Given the description of an element on the screen output the (x, y) to click on. 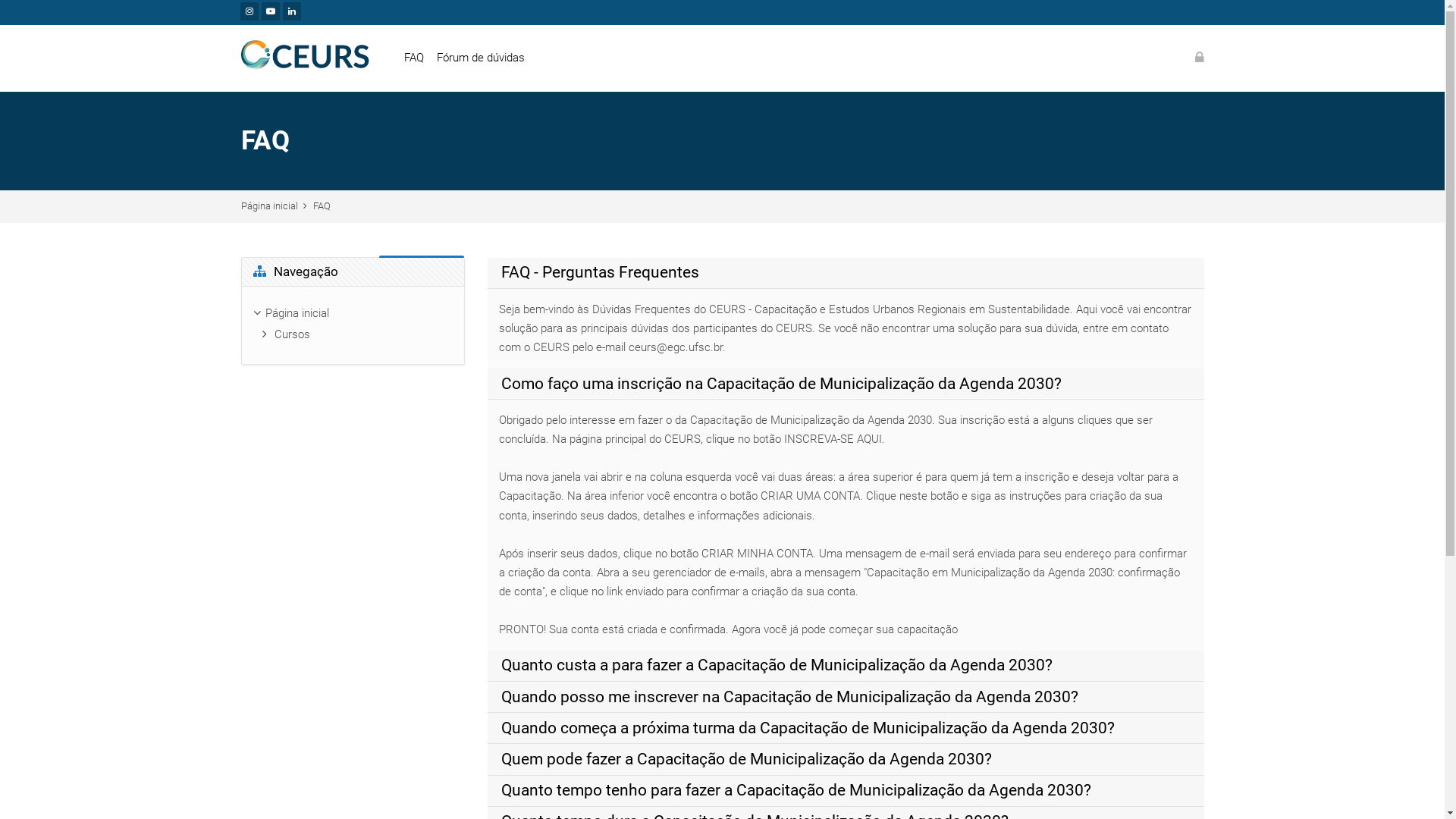
Youtube Element type: hover (269, 11)
Acessar Element type: hover (1199, 57)
Instagram Element type: hover (248, 11)
CEURS Element type: hover (305, 57)
Linkedin Element type: hover (291, 11)
FAQ Element type: text (420, 57)
Cursos Element type: text (292, 334)
